Given the description of an element on the screen output the (x, y) to click on. 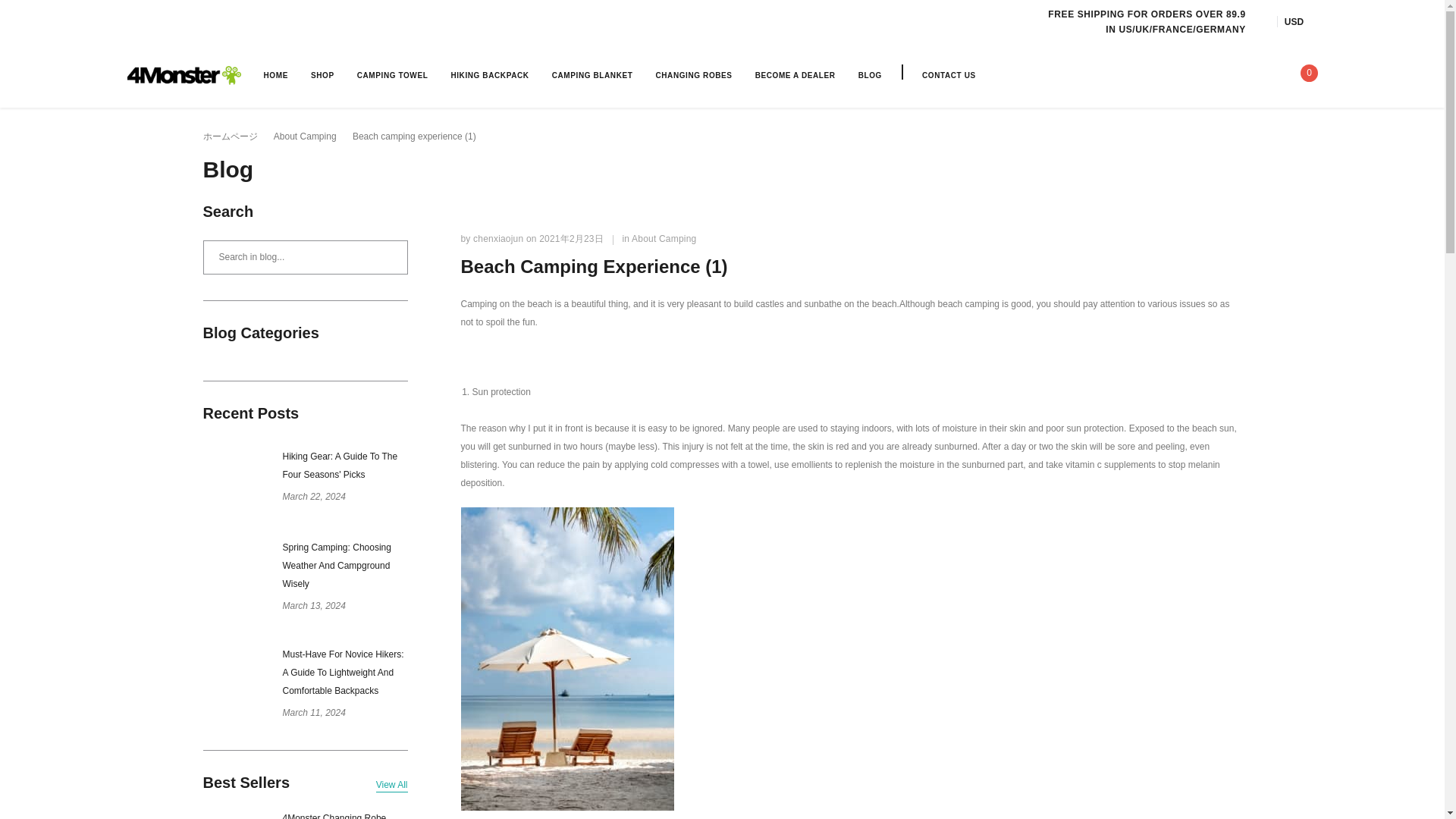
CHANGING ROBES (693, 75)
HIKING BACKPACK (488, 75)
BECOME A DEALER (795, 75)
Currency (1300, 21)
CONTACT US (948, 75)
HOME (275, 75)
CAMPING BLANKET (592, 75)
0 (1303, 74)
BLOG (870, 75)
USD (1300, 21)
CAMPING TOWEL (392, 75)
SHOP (322, 75)
